Given the description of an element on the screen output the (x, y) to click on. 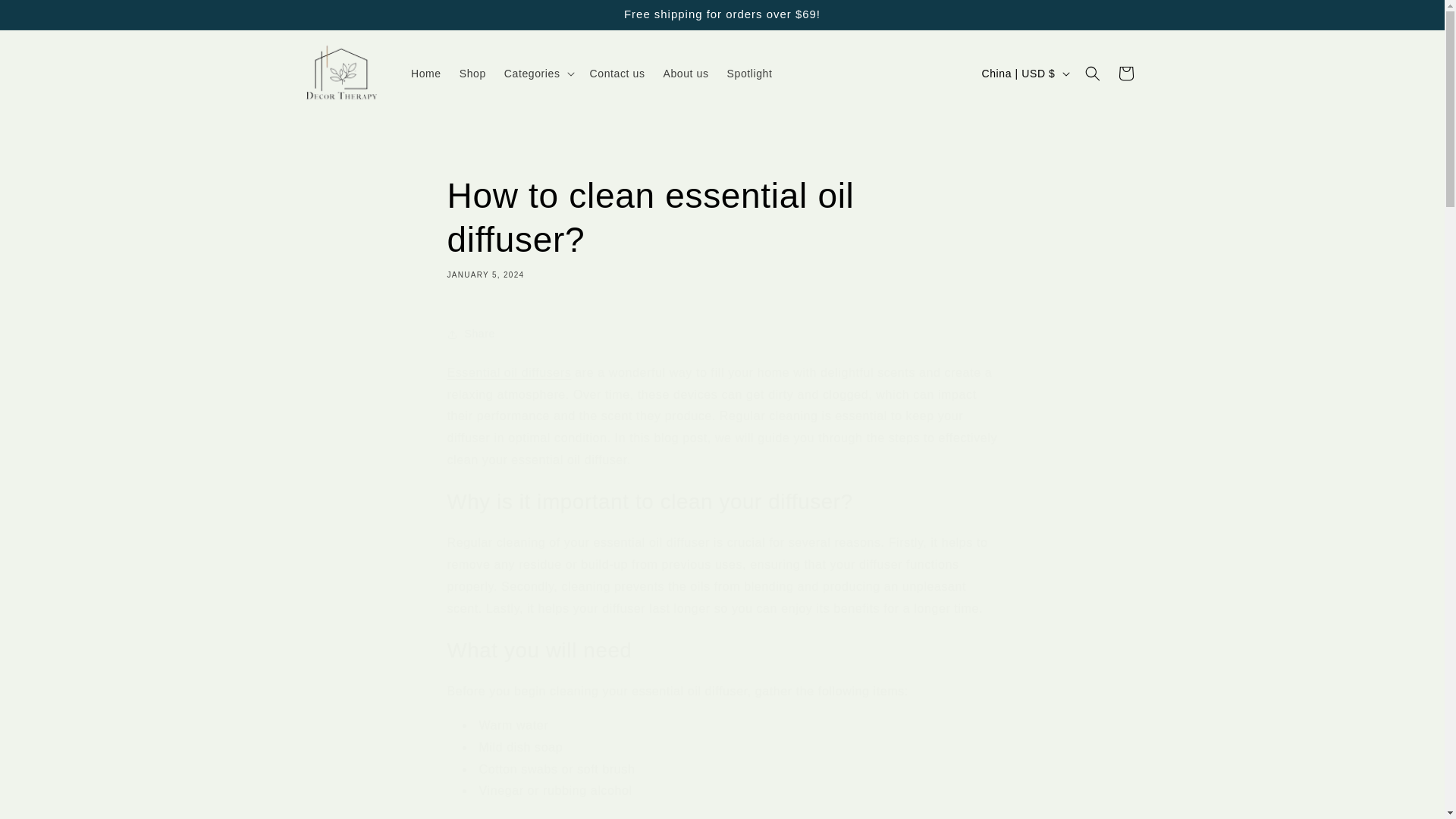
Contact us (616, 73)
Share (721, 334)
TheDecorTherapy sells high-quality essential oil diffusers. (721, 226)
Spotlight (509, 372)
Shop (749, 73)
About us (472, 73)
Home (685, 73)
Skip to content (425, 73)
